Given the description of an element on the screen output the (x, y) to click on. 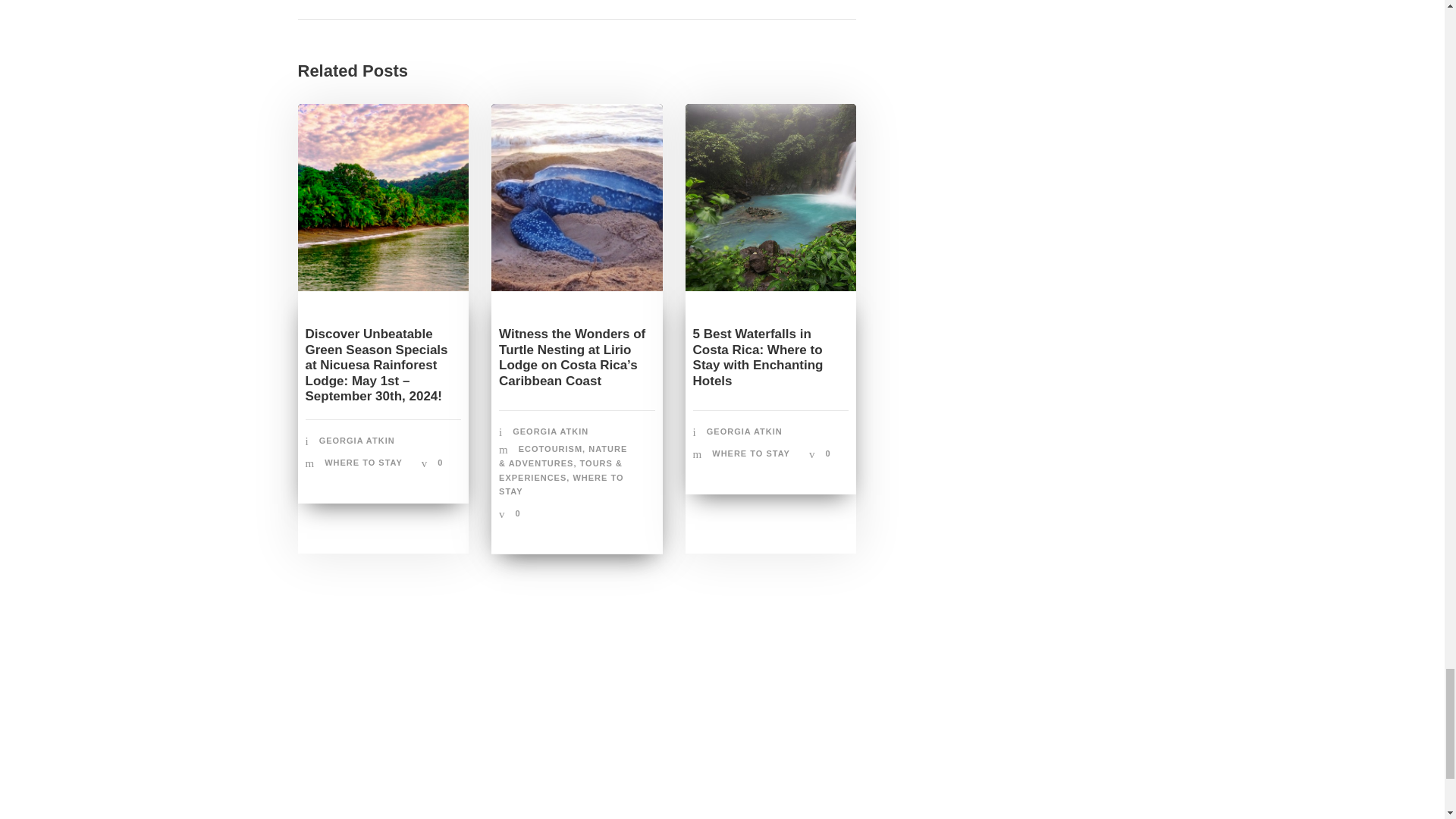
Leatherback sea turtle, image by Sea Turtle Conservancy (577, 197)
playa nicuesa rainforest lodge (382, 197)
Posts by Georgia Atkin (356, 440)
GEORGIA ATKIN (356, 440)
Posts by Georgia Atkin (744, 430)
Posts by Georgia Atkin (550, 430)
WHERE TO STAY (363, 461)
